Given the description of an element on the screen output the (x, y) to click on. 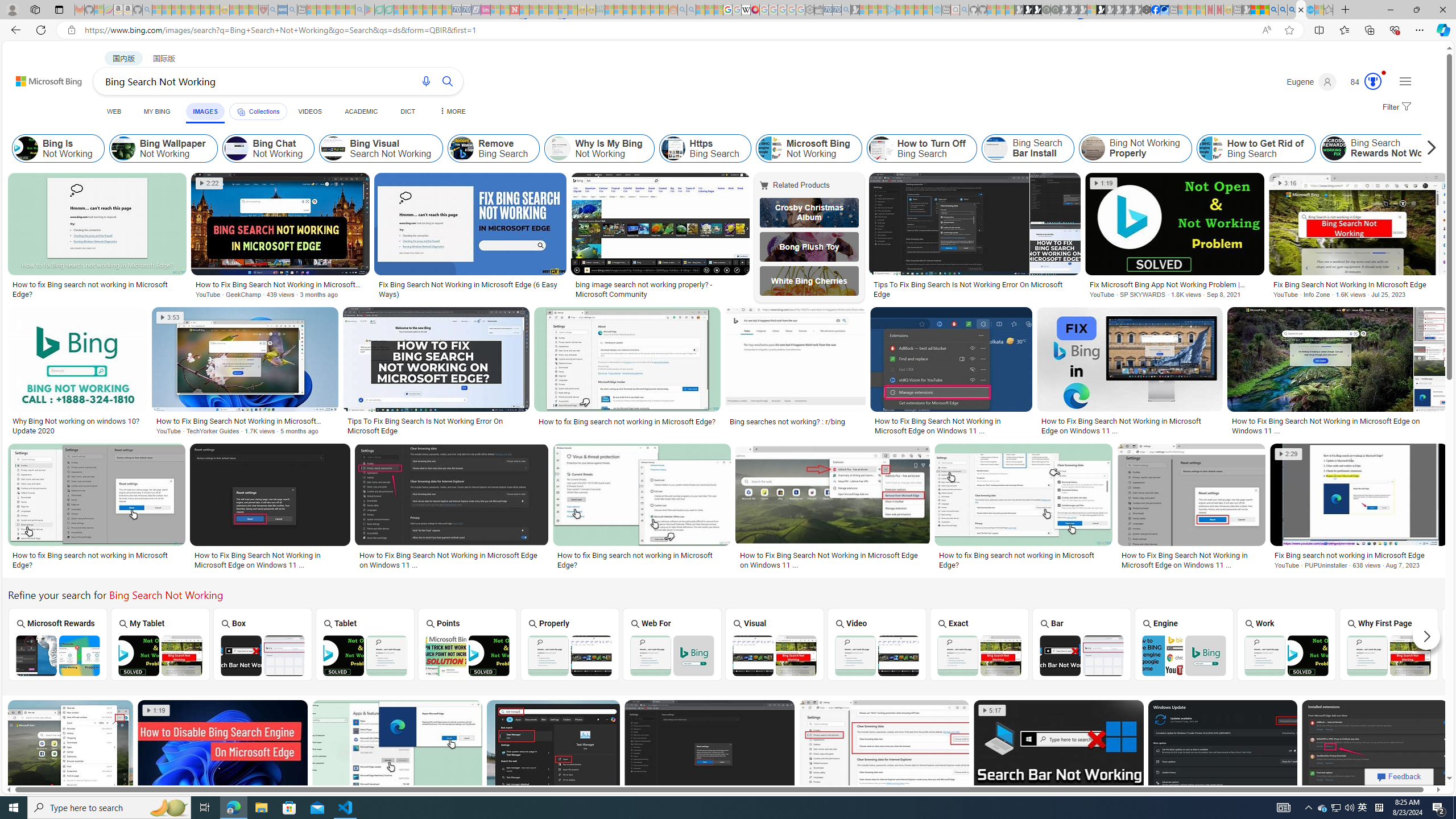
Why Is My Bing Not Working (598, 148)
MY BING (156, 111)
Bing Bong Plush Toy (809, 246)
Points (467, 643)
Bing Search Points Not Working (467, 655)
